Given the description of an element on the screen output the (x, y) to click on. 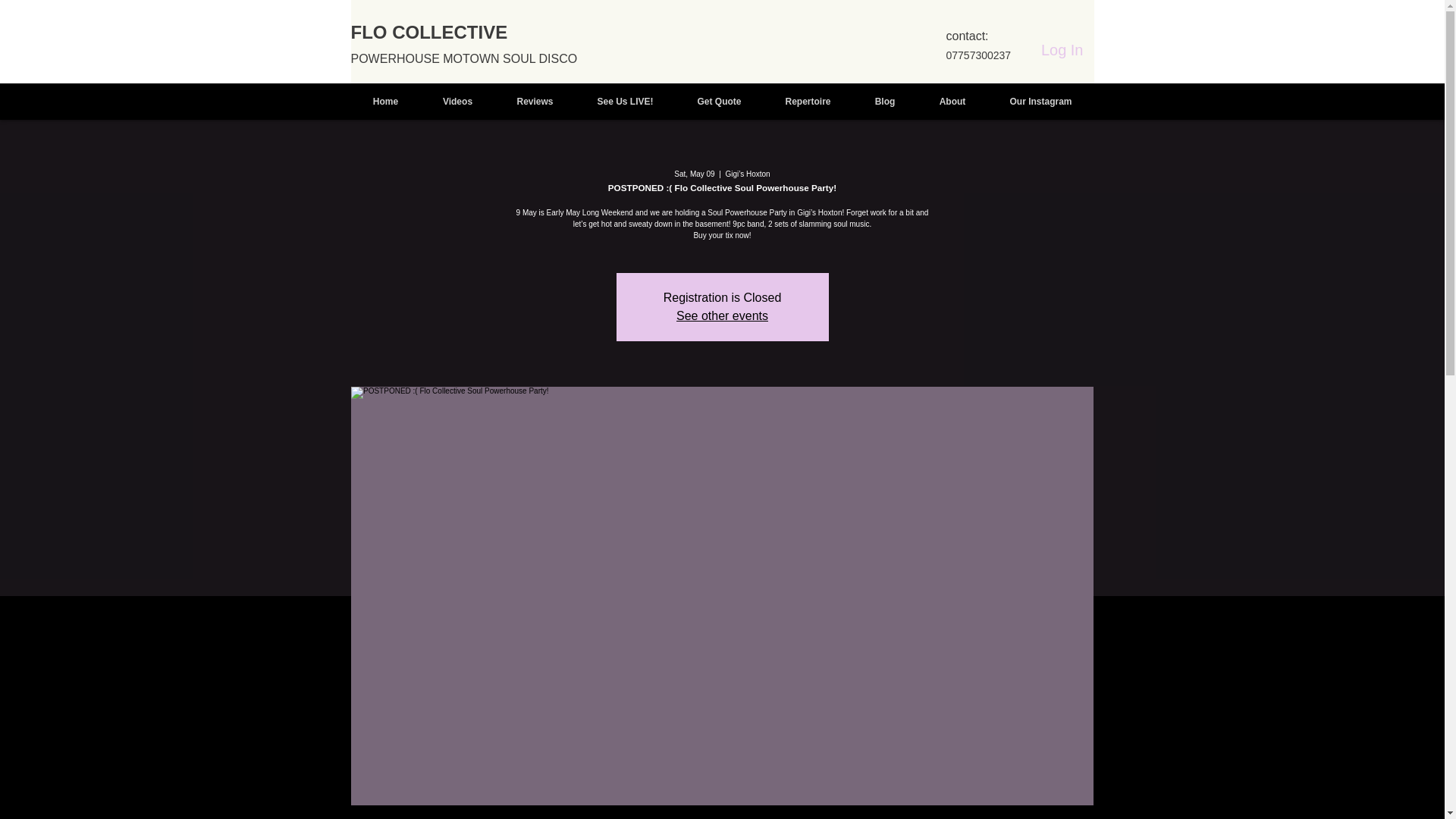
Blog (884, 101)
Get Quote (718, 101)
Videos (457, 101)
Home (385, 101)
See other events (722, 315)
About (952, 101)
See Us LIVE! (625, 101)
Log In (1062, 50)
Reviews (535, 101)
Our Instagram (1040, 101)
